Given the description of an element on the screen output the (x, y) to click on. 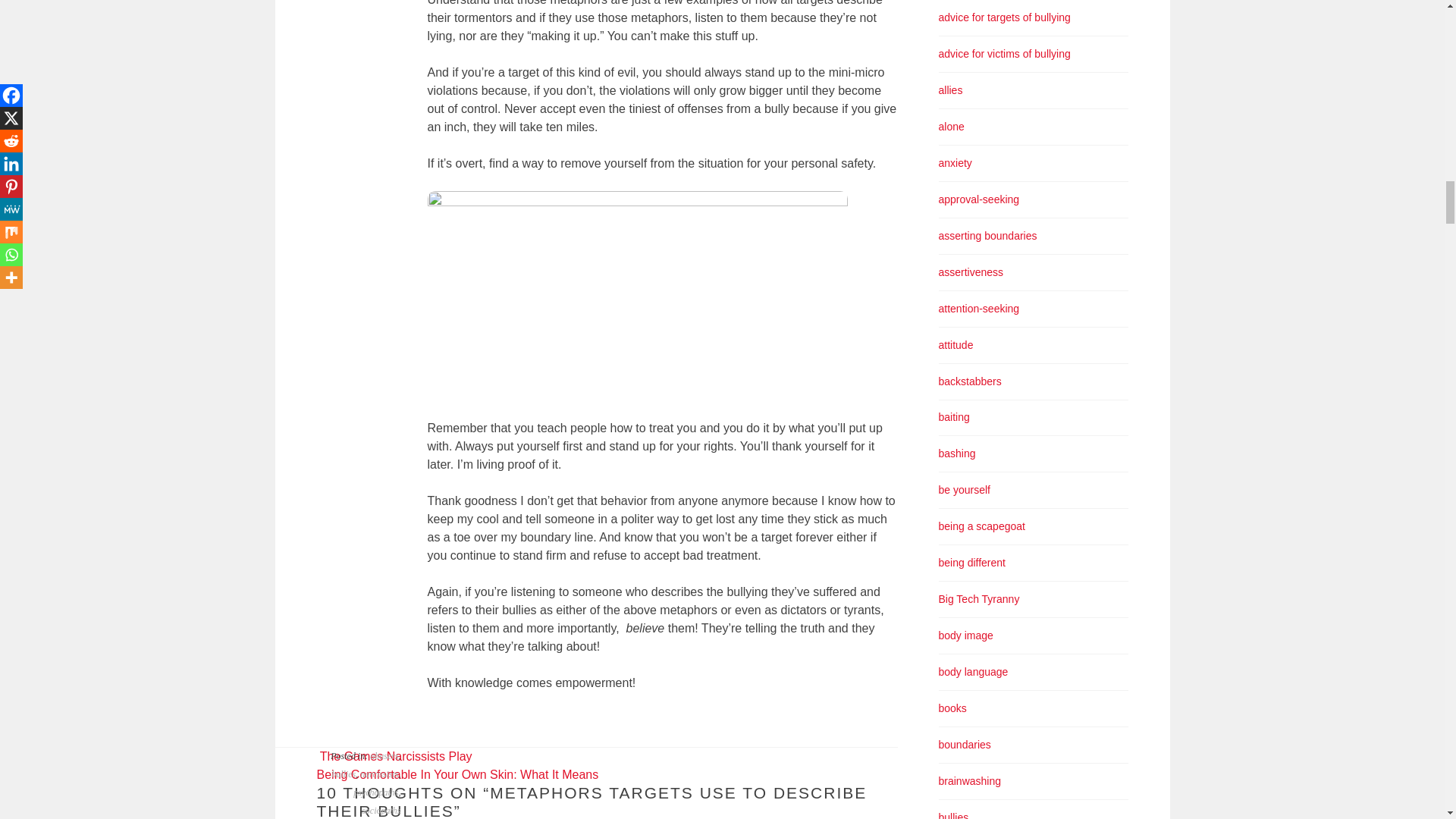
sociopaths (380, 810)
abusers (383, 756)
narcissists (378, 774)
bullies (343, 774)
psychopaths (375, 792)
